Given the description of an element on the screen output the (x, y) to click on. 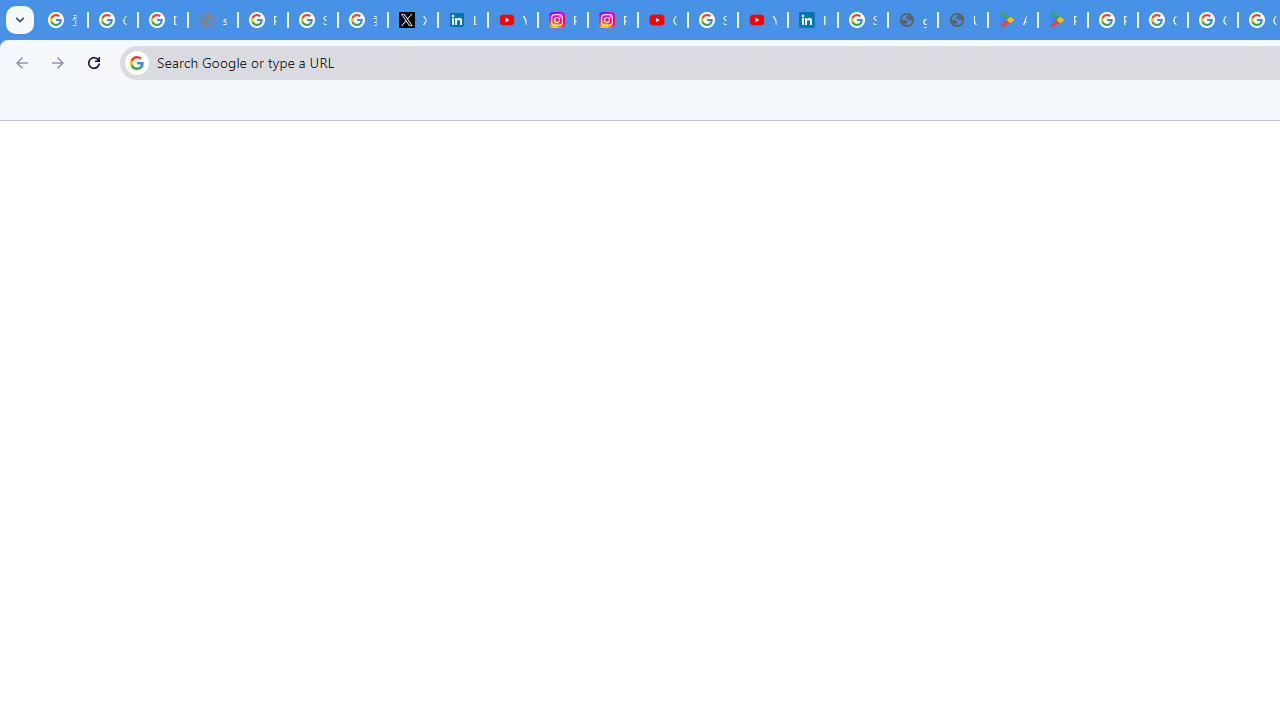
support.google.com - Network error (213, 20)
X (412, 20)
PAW Patrol Rescue World - Apps on Google Play (1062, 20)
User Details (963, 20)
Sign in - Google Accounts (712, 20)
Google Workspace - Specific Terms (1212, 20)
